Given the description of an element on the screen output the (x, y) to click on. 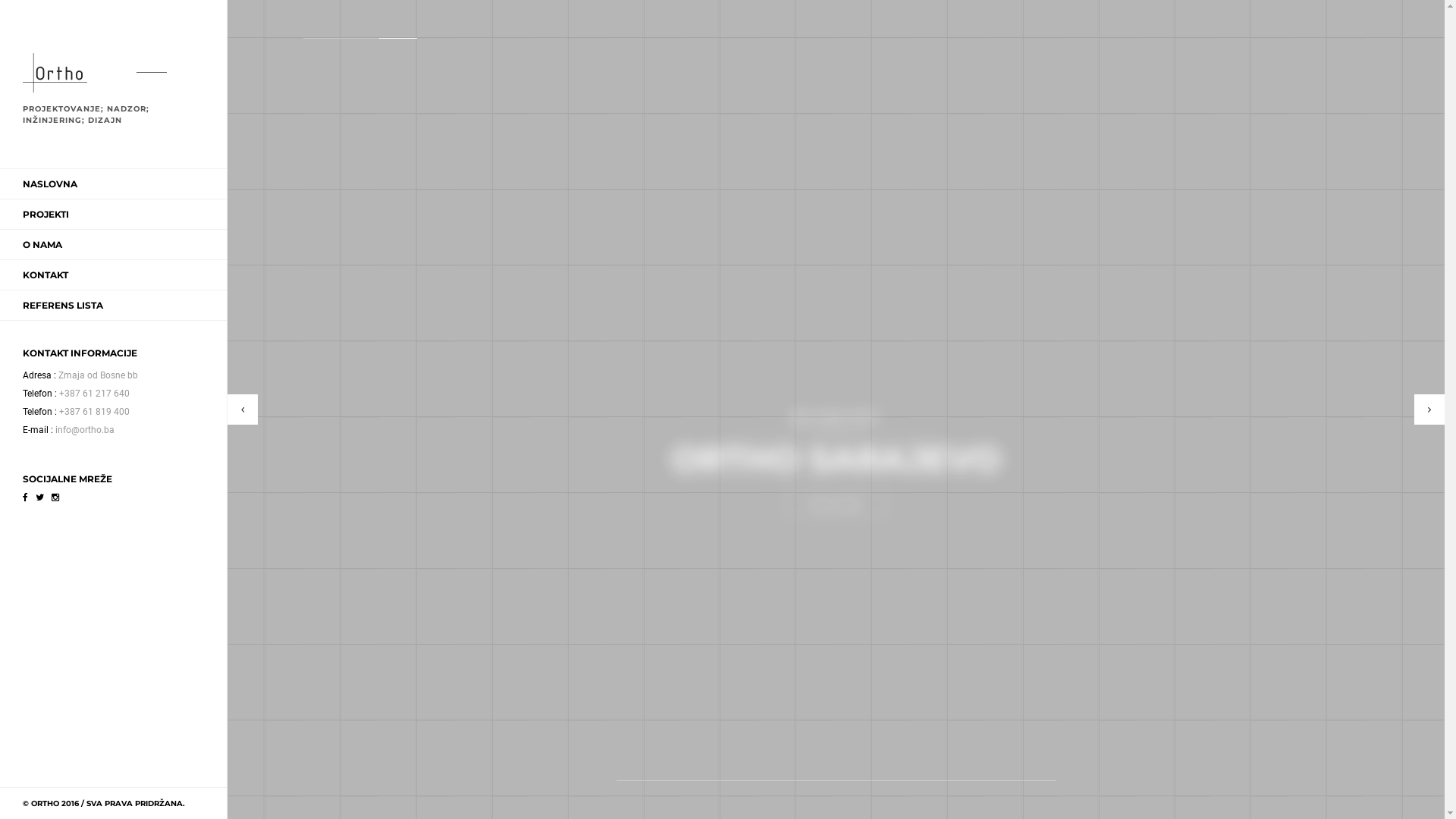
+387 61 819 400 Element type: text (90, 411)
info@ortho.ba Element type: text (81, 429)
NASLOVNA Element type: text (49, 183)
Zmaja od Bosne bb Element type: text (94, 375)
KONTAKT Element type: text (45, 274)
+387 61 217 640 Element type: text (90, 393)
PROJEKTI Element type: text (45, 213)
O NAMA Element type: text (42, 244)
REFERENS LISTA Element type: text (62, 304)
